Given the description of an element on the screen output the (x, y) to click on. 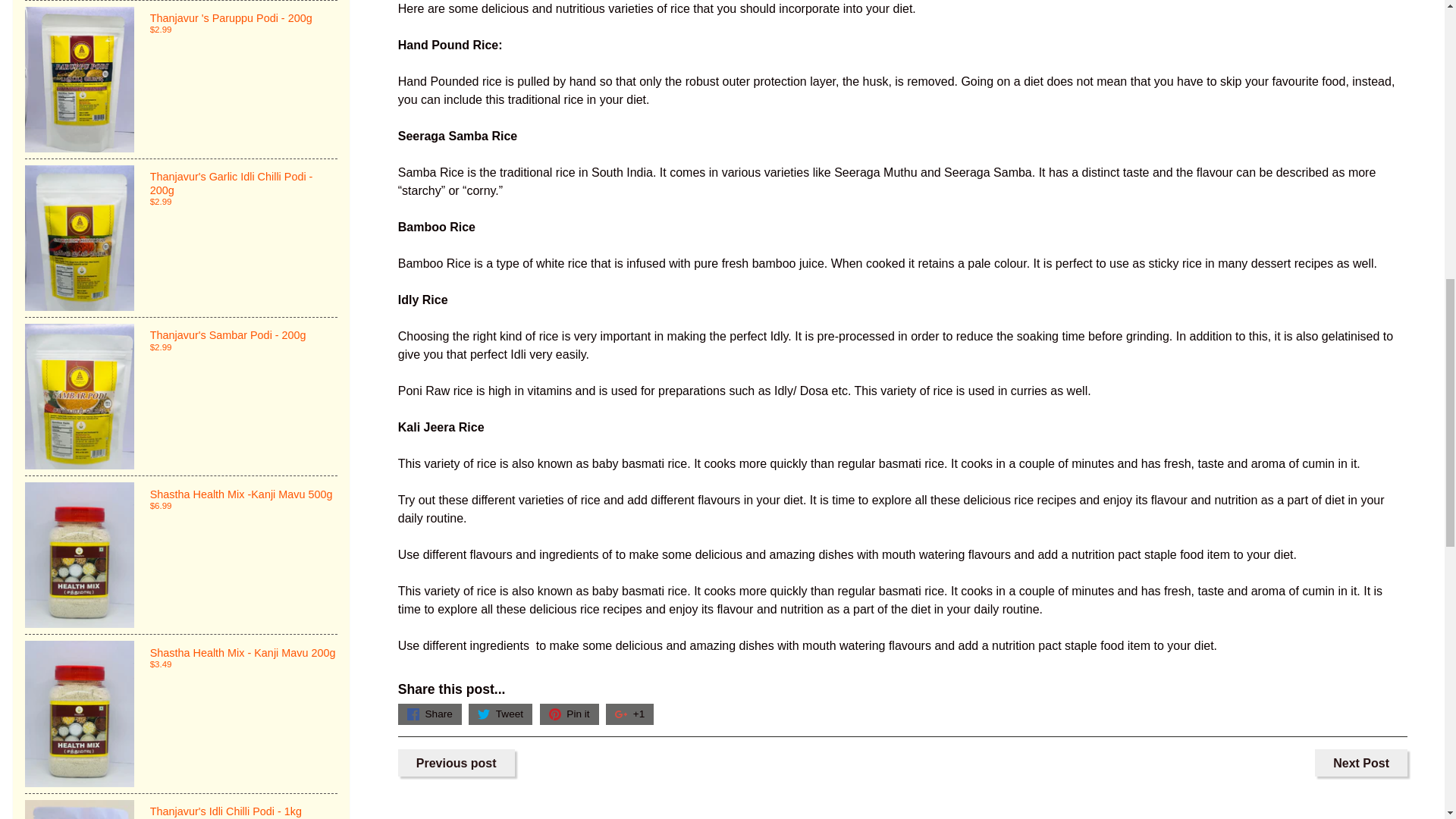
Pin on Pinterest (569, 713)
Thanjavur 's Paruppu Podi - 200g (180, 79)
Tweet on Twitter (500, 713)
Shastha Health Mix -Kanji Mavu 500g (180, 554)
Thanjavur's  Idli  Chilli Podi - 1kg (180, 806)
Thanjavur's Garlic Idli  Chilli Podi - 200g (180, 237)
Share on Facebook (429, 713)
Shastha Health Mix - Kanji Mavu 200g (180, 713)
Thanjavur's Sambar Podi  - 200g (180, 396)
